Given the description of an element on the screen output the (x, y) to click on. 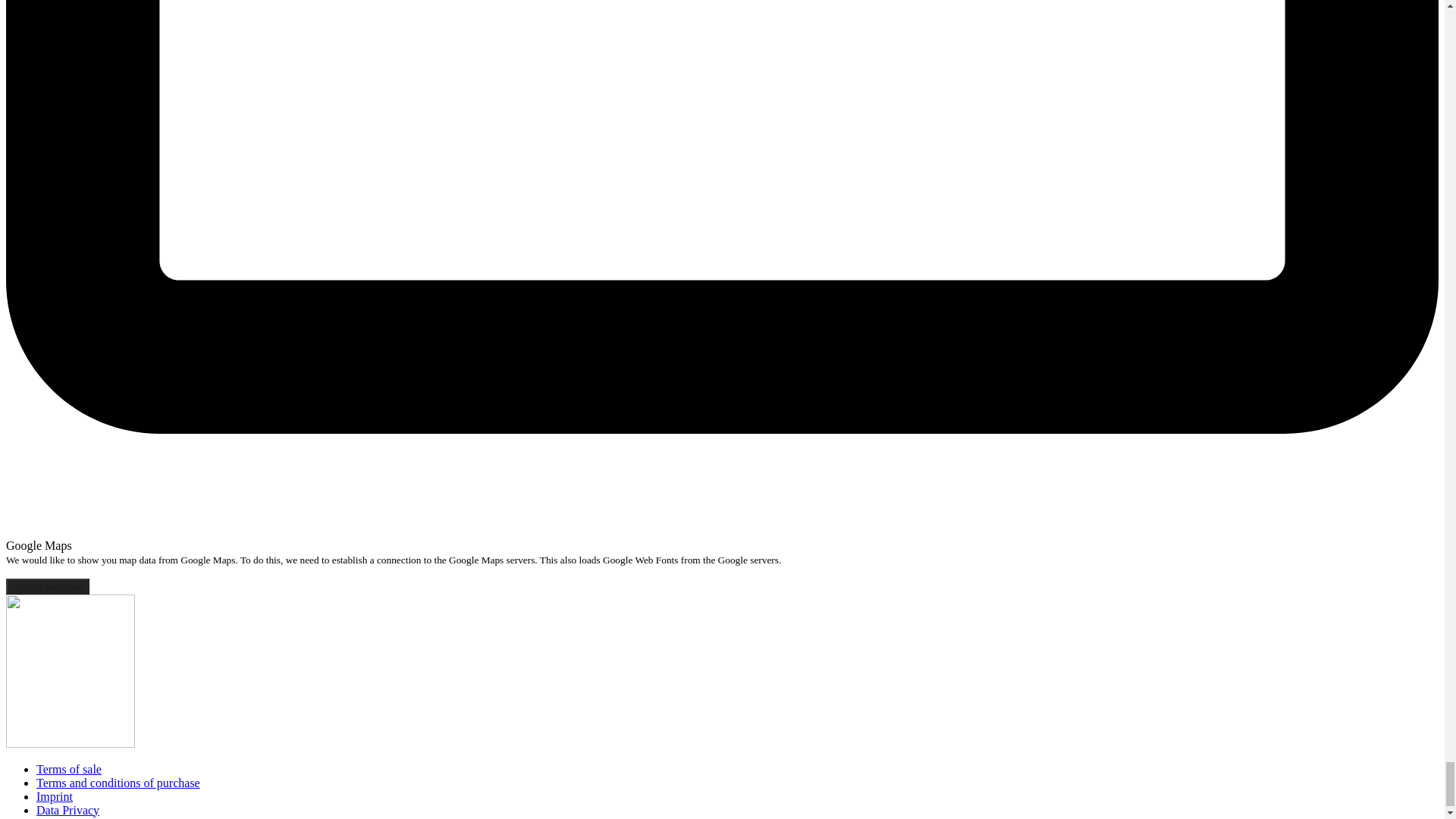
Terms and conditions of purchase (118, 782)
Imprint (54, 796)
Accept selected (46, 586)
Data Privacy (67, 809)
Terms of sale (68, 768)
